Given the description of an element on the screen output the (x, y) to click on. 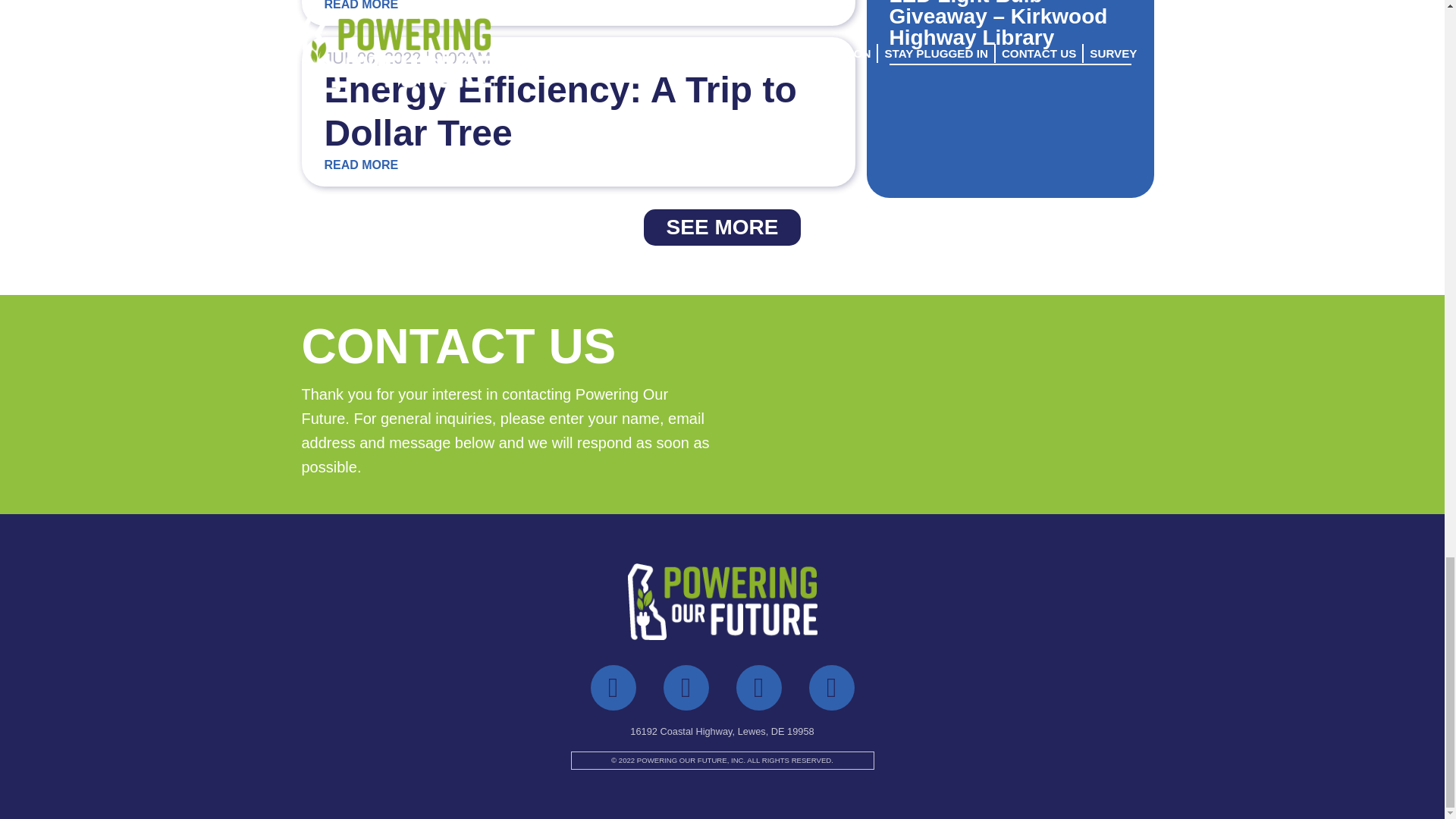
TWITTER (684, 687)
FACEBOOK (611, 687)
LINKEDIN (830, 687)
SEE MORE (722, 227)
SEE MORE (722, 227)
INSTAGRAM (757, 687)
